Given the description of an element on the screen output the (x, y) to click on. 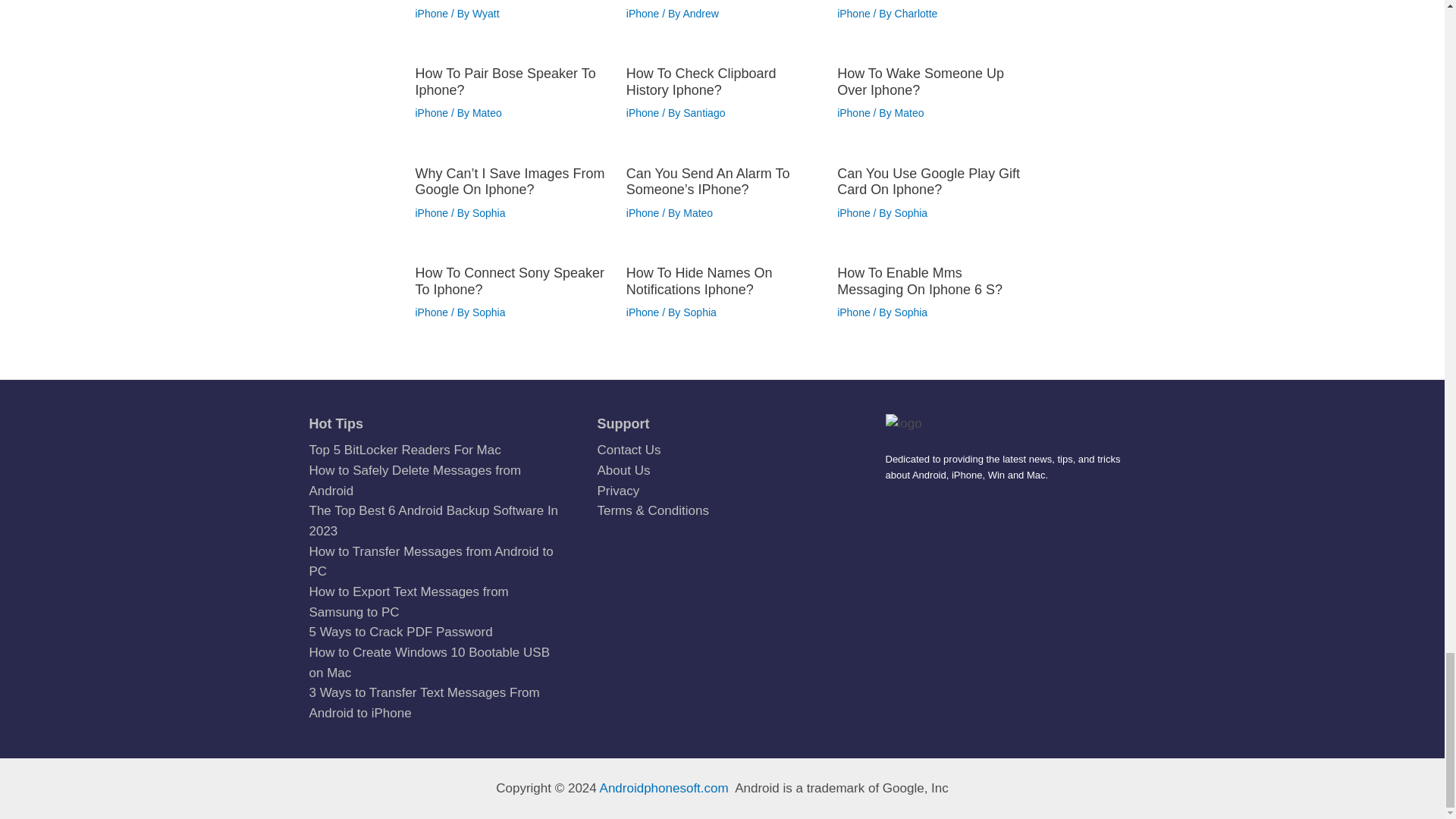
View all posts by Santiago (703, 112)
View all posts by Wyatt (485, 13)
View all posts by Charlotte (916, 13)
View all posts by Andrew (699, 13)
View all posts by Mateo (486, 112)
View all posts by Sophia (488, 213)
View all posts by Mateo (909, 112)
